Given the description of an element on the screen output the (x, y) to click on. 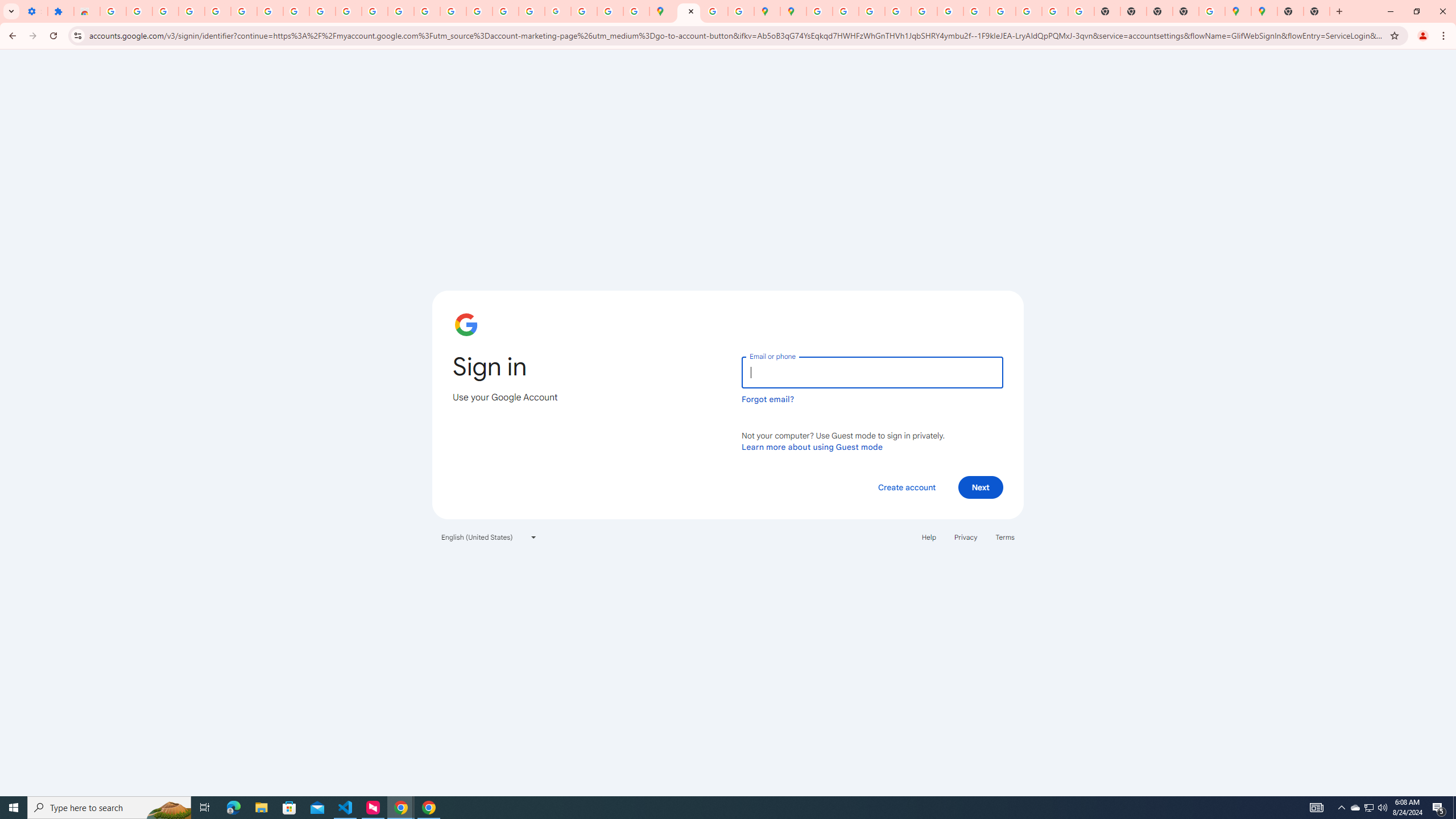
New Tab (1316, 11)
New Tab (1185, 11)
Privacy Help Center - Policies Help (871, 11)
Google Maps (1238, 11)
Google Account Help (269, 11)
